Given the description of an element on the screen output the (x, y) to click on. 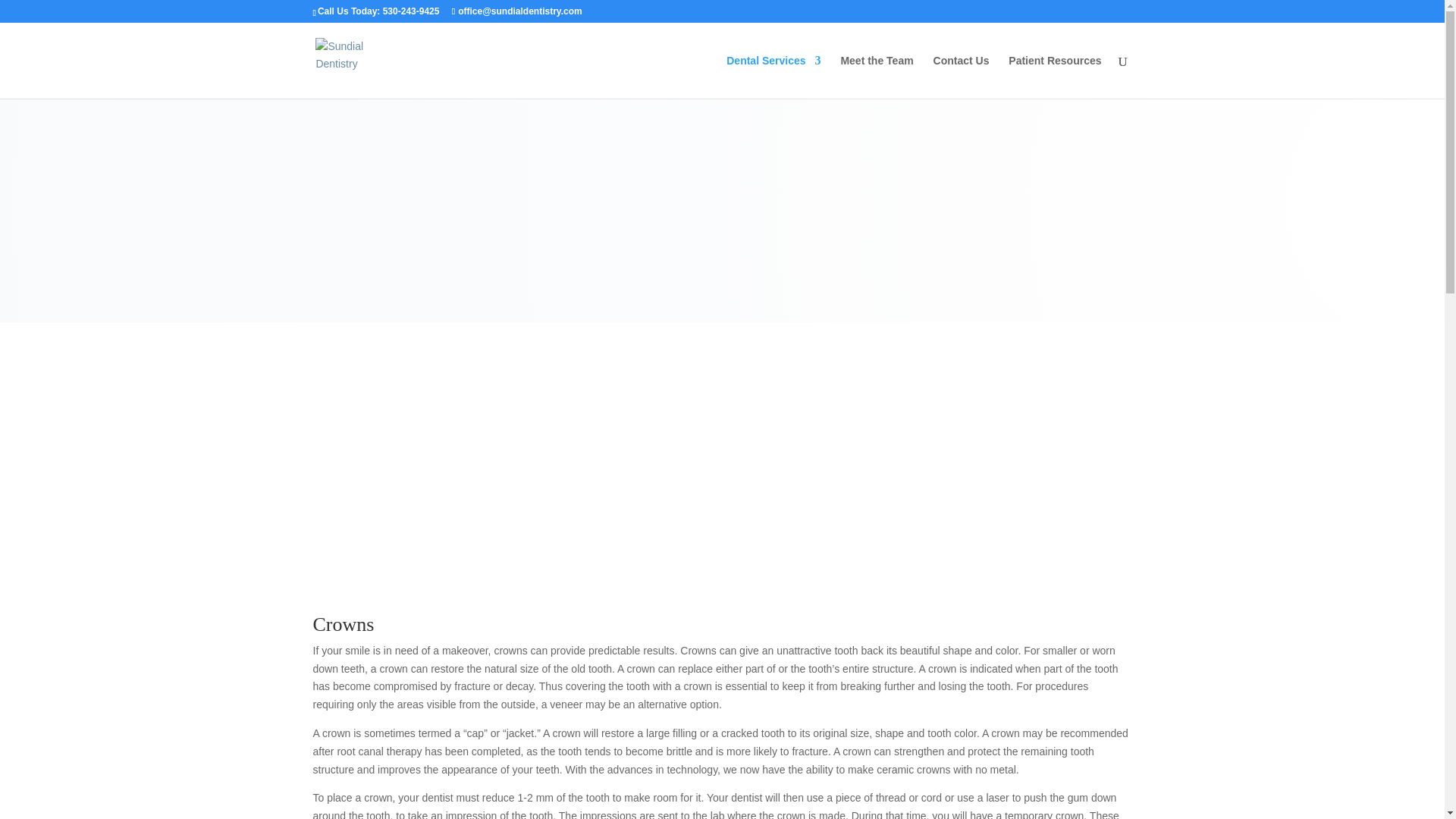
Meet the Team (876, 76)
Dental Services (773, 76)
Patient Resources (1054, 76)
Contact Us (961, 76)
